Given the description of an element on the screen output the (x, y) to click on. 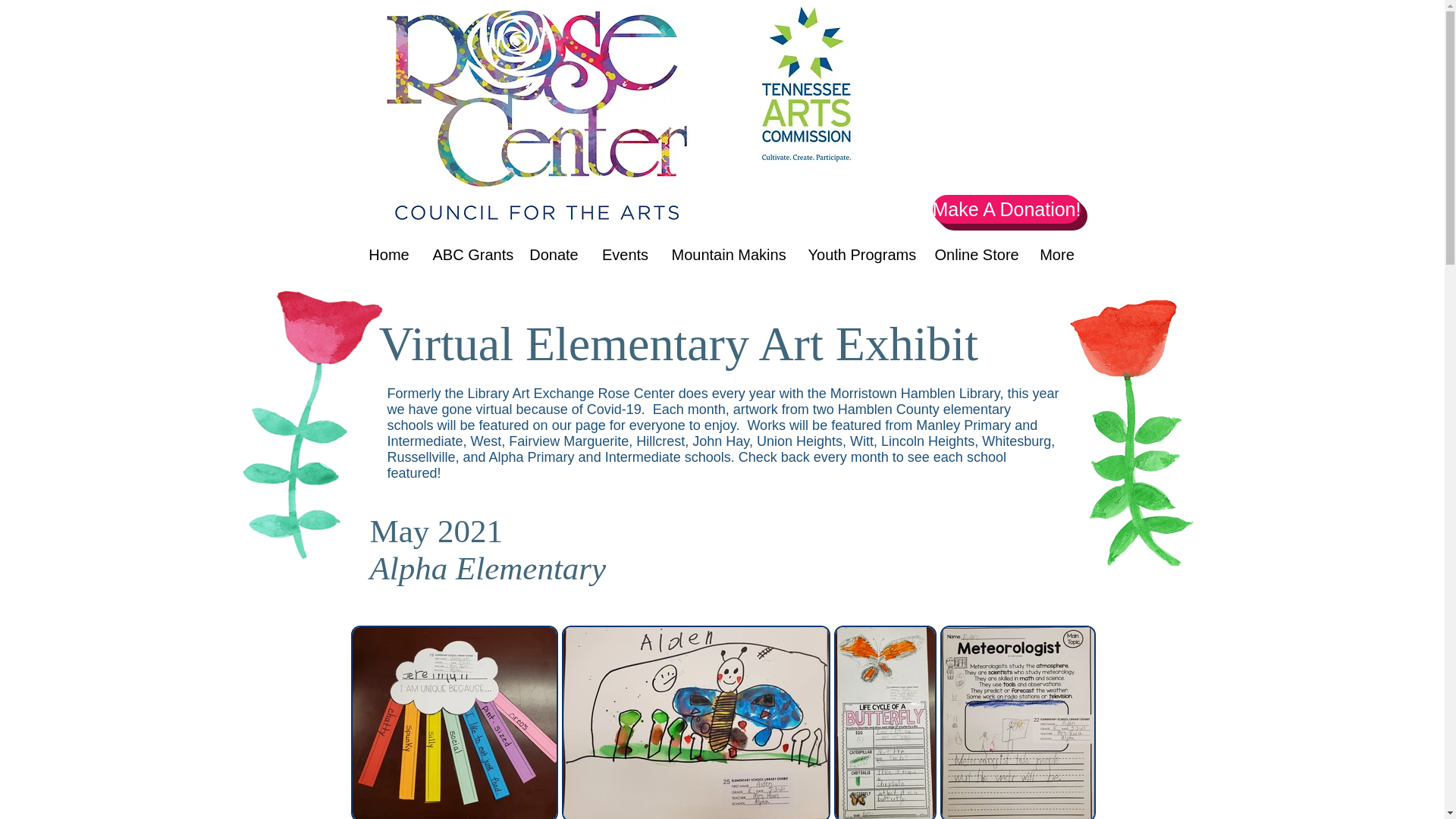
Donate (552, 255)
Home (388, 255)
Mountain Makins (727, 255)
40thRoseCenterLOGO-01.jpg (536, 114)
Events (624, 255)
Make A Donation! (1007, 208)
Online Store (974, 255)
ABC Grants (470, 255)
Youth Programs (859, 255)
